Given the description of an element on the screen output the (x, y) to click on. 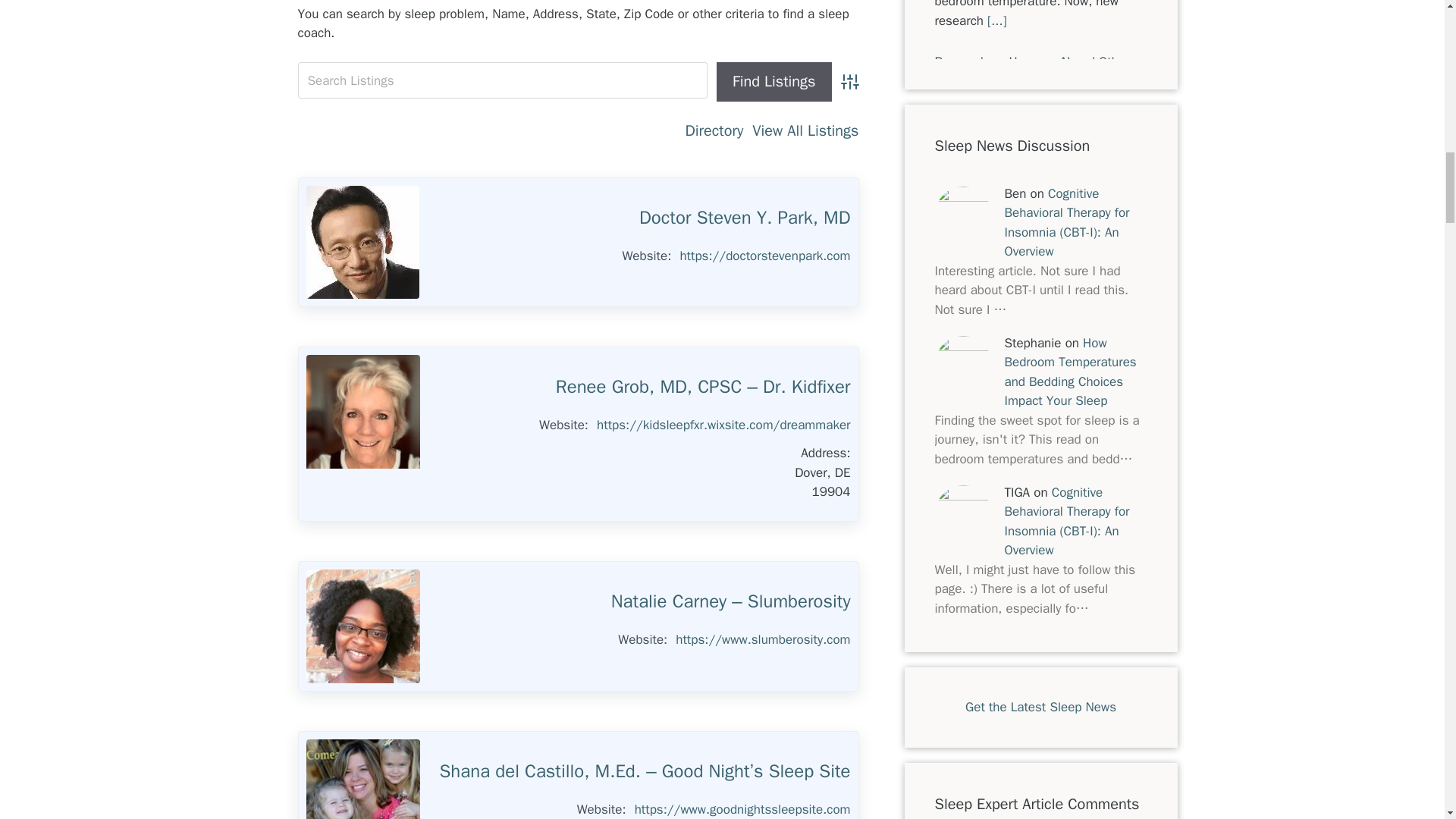
Directory (714, 130)
Quick search keywords (502, 80)
View All Listings (805, 130)
Doctor Steven Y. Park, MD (744, 217)
Find Listings (773, 81)
Doctor Steven Y. Park, MD (362, 241)
Renee Grob, MD, CPSC - Dr. Kidfixer (362, 411)
Find Listings (773, 81)
